Given the description of an element on the screen output the (x, y) to click on. 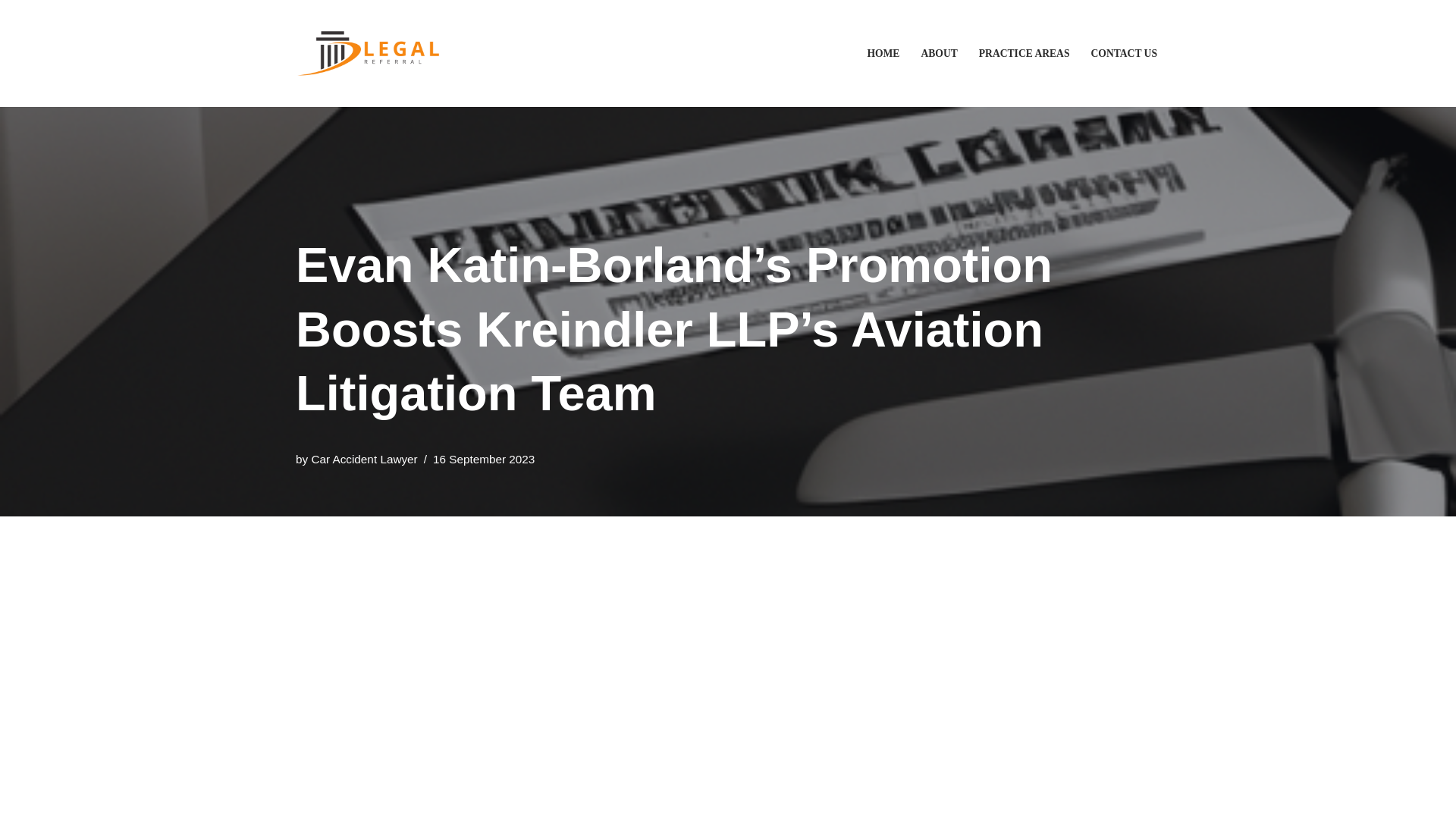
Skip to content (11, 31)
Car Accident Lawyer (363, 459)
ABOUT (938, 53)
PRACTICE AREAS (1024, 53)
CONTACT US (1123, 53)
HOME (882, 53)
Posts by Car Accident Lawyer (363, 459)
